Given the description of an element on the screen output the (x, y) to click on. 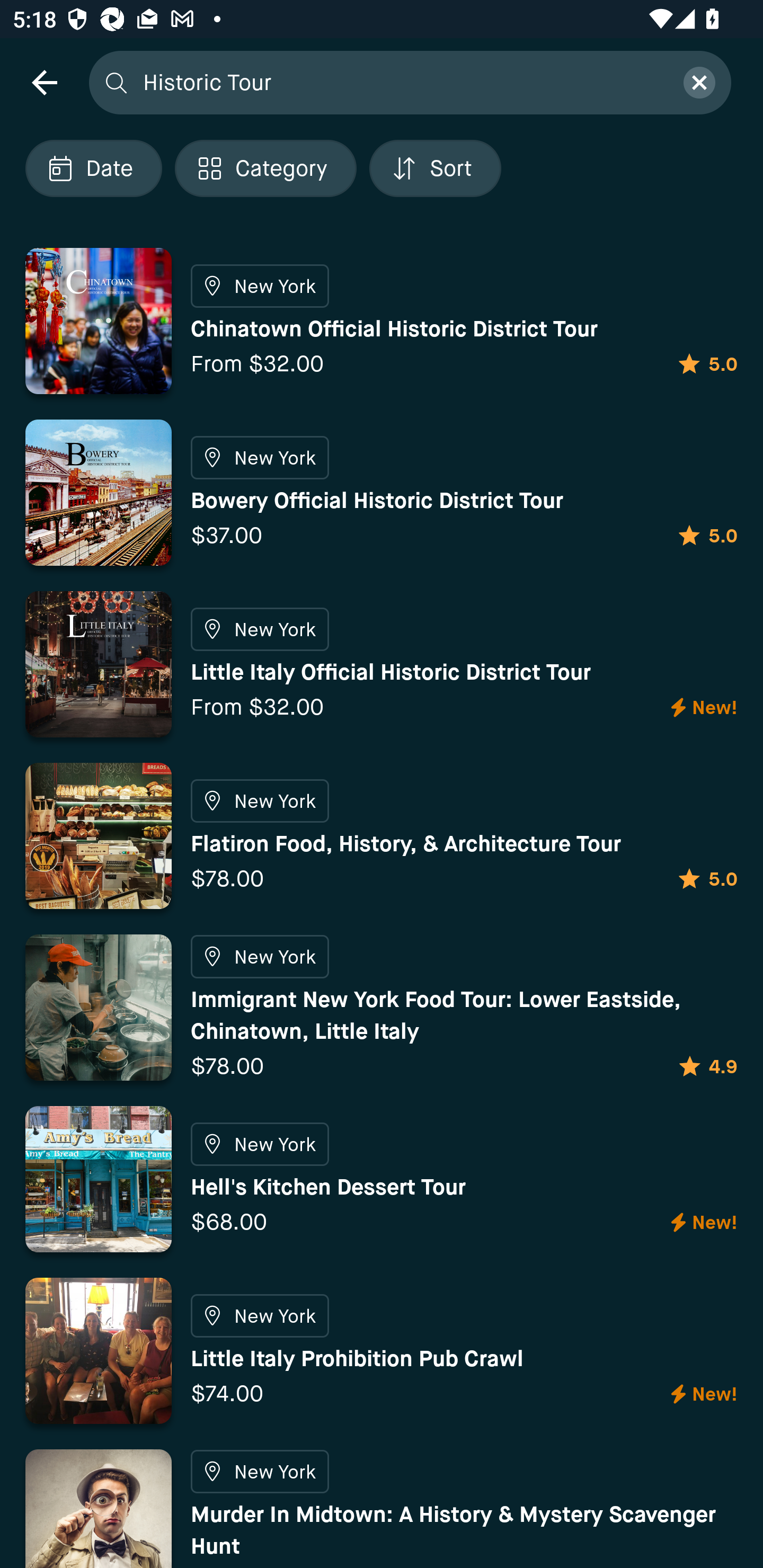
navigation icon (44, 81)
Historic Tour (402, 81)
Localized description Date (93, 168)
Localized description Category (265, 168)
Localized description Sort (435, 168)
